Given the description of an element on the screen output the (x, y) to click on. 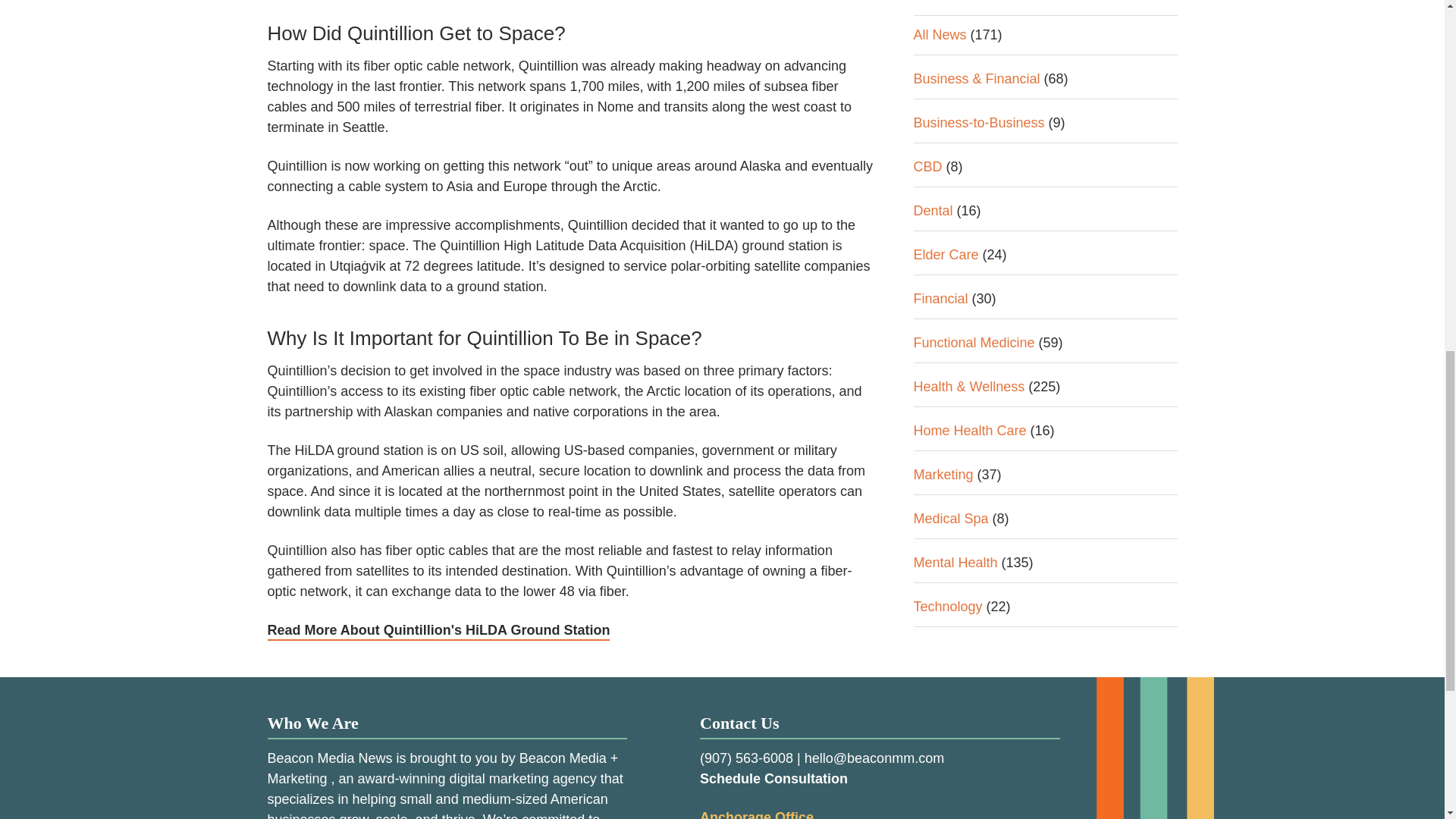
Schedule Consultation (773, 778)
Mental Health (954, 14)
Technology (946, 58)
Read More About Quintillion's HiLDA Ground Station (438, 631)
